Given the description of an element on the screen output the (x, y) to click on. 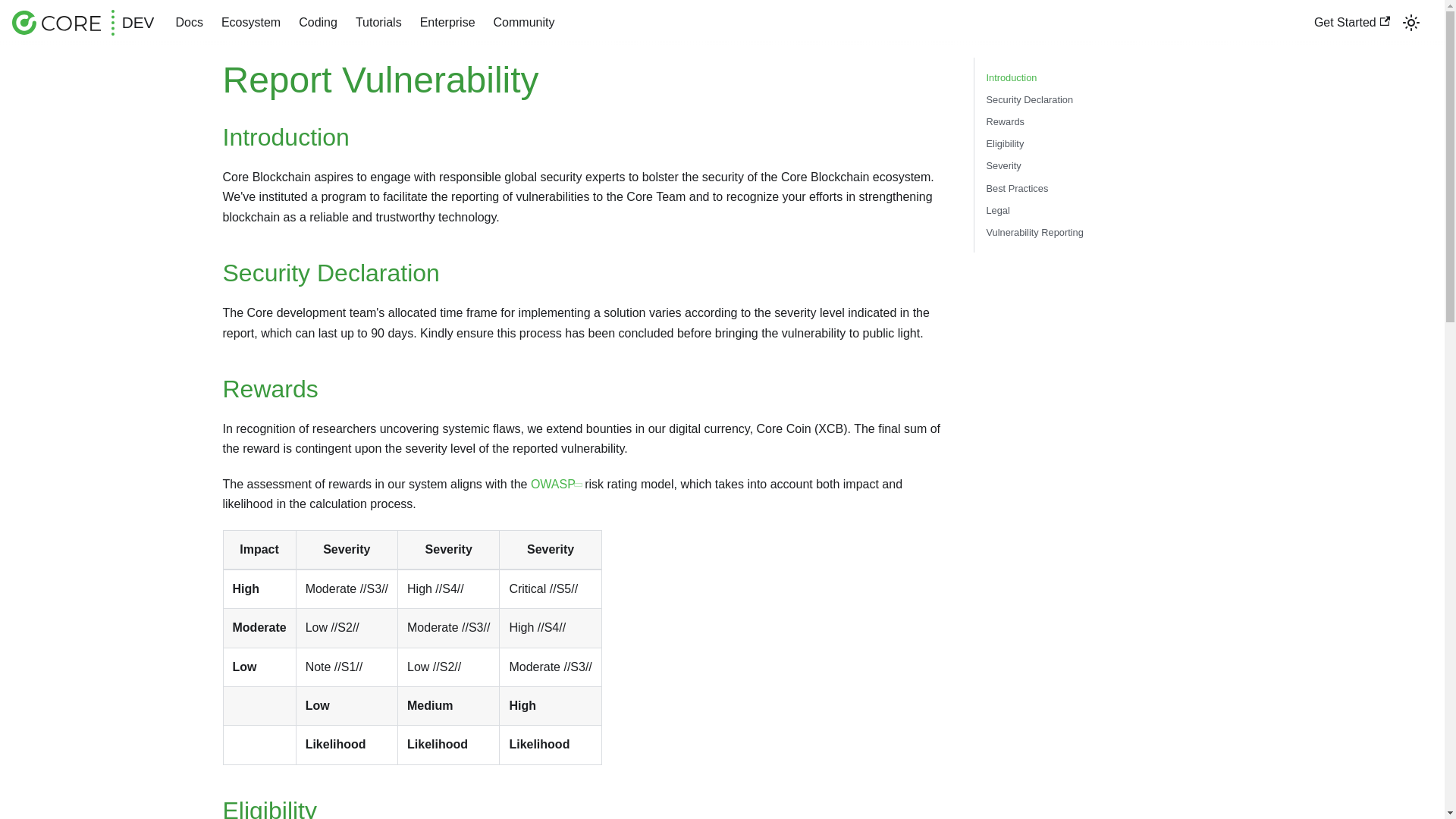
Best Practices Element type: text (1088, 188)
Severity Element type: text (1088, 165)
Vulnerability Reporting Element type: text (1088, 232)
OWASP Element type: text (555, 483)
Switch between dark and light mode (currently light mode) Element type: hover (1411, 22)
Community Element type: text (524, 22)
Tutorials Element type: text (378, 22)
Eligibility Element type: text (1088, 143)
Docs Element type: text (188, 22)
Get Started Element type: text (1352, 22)
Ecosystem Element type: text (250, 22)
Security Declaration Element type: text (1088, 99)
DEV Element type: text (82, 22)
Introduction Element type: text (1088, 77)
Coding Element type: text (317, 22)
Rewards Element type: text (1088, 121)
Legal Element type: text (1088, 210)
Enterprise Element type: text (447, 22)
